Given the description of an element on the screen output the (x, y) to click on. 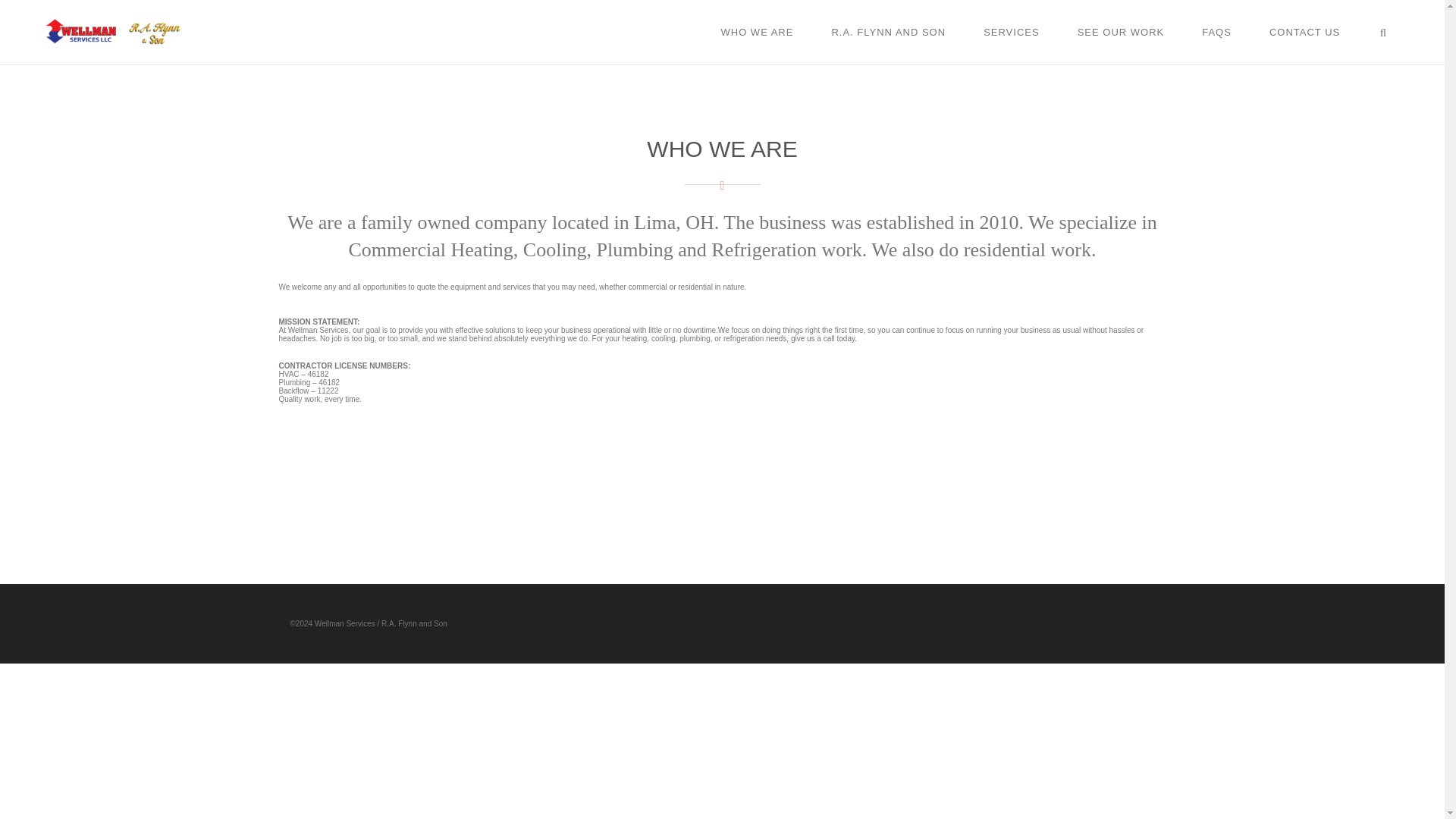
SERVICES (1010, 32)
R.A. FLYNN AND SON (887, 32)
FAQS (1216, 32)
WHO WE ARE (756, 32)
SEE OUR WORK (1120, 32)
CONTACT US (1304, 32)
